Given the description of an element on the screen output the (x, y) to click on. 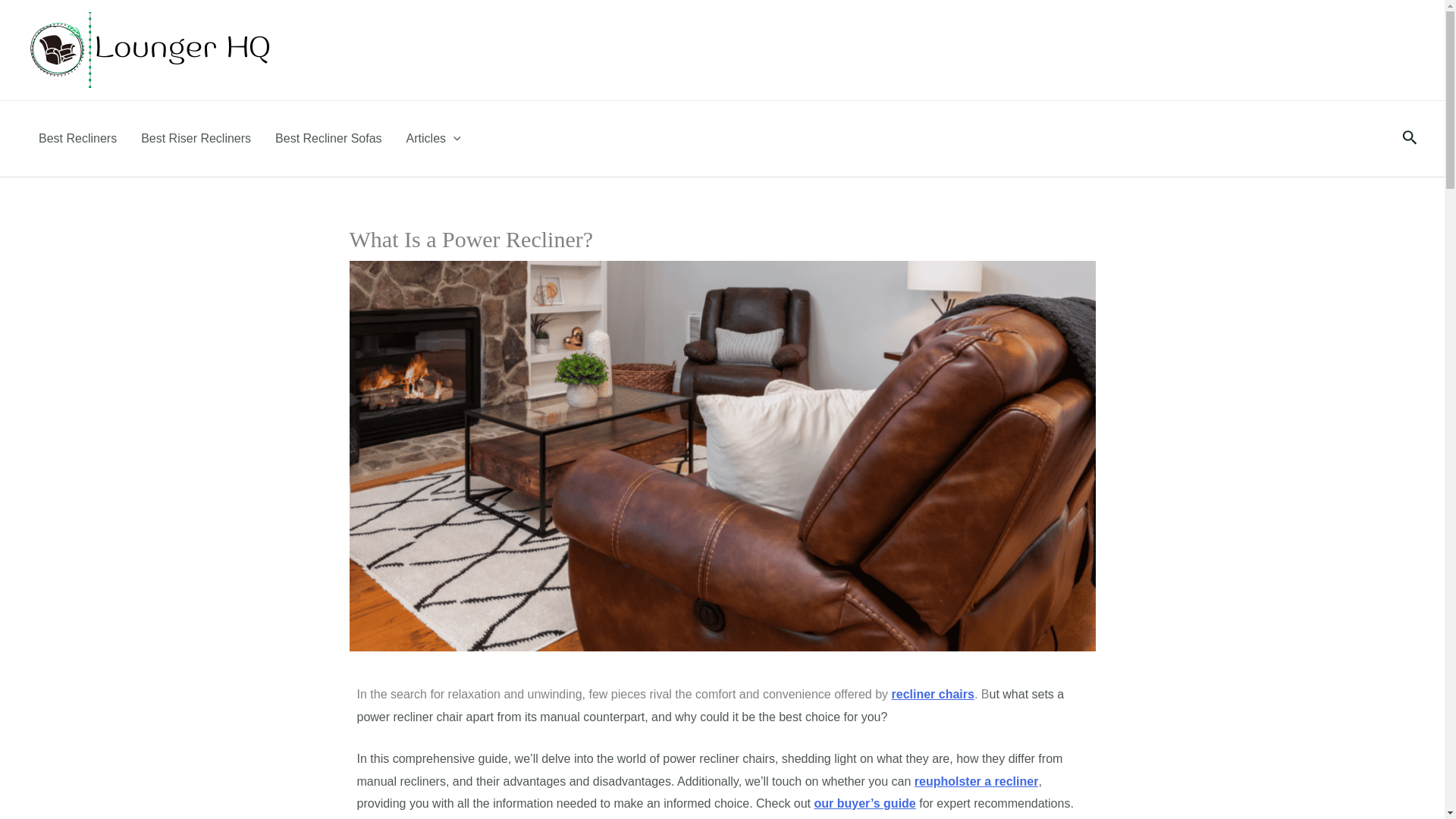
Best Recliner Sofas (328, 138)
Articles (433, 138)
reupholster a recliner (976, 780)
recliner chairs (932, 694)
Best Recliners (77, 138)
Best Riser Recliners (196, 138)
